Given the description of an element on the screen output the (x, y) to click on. 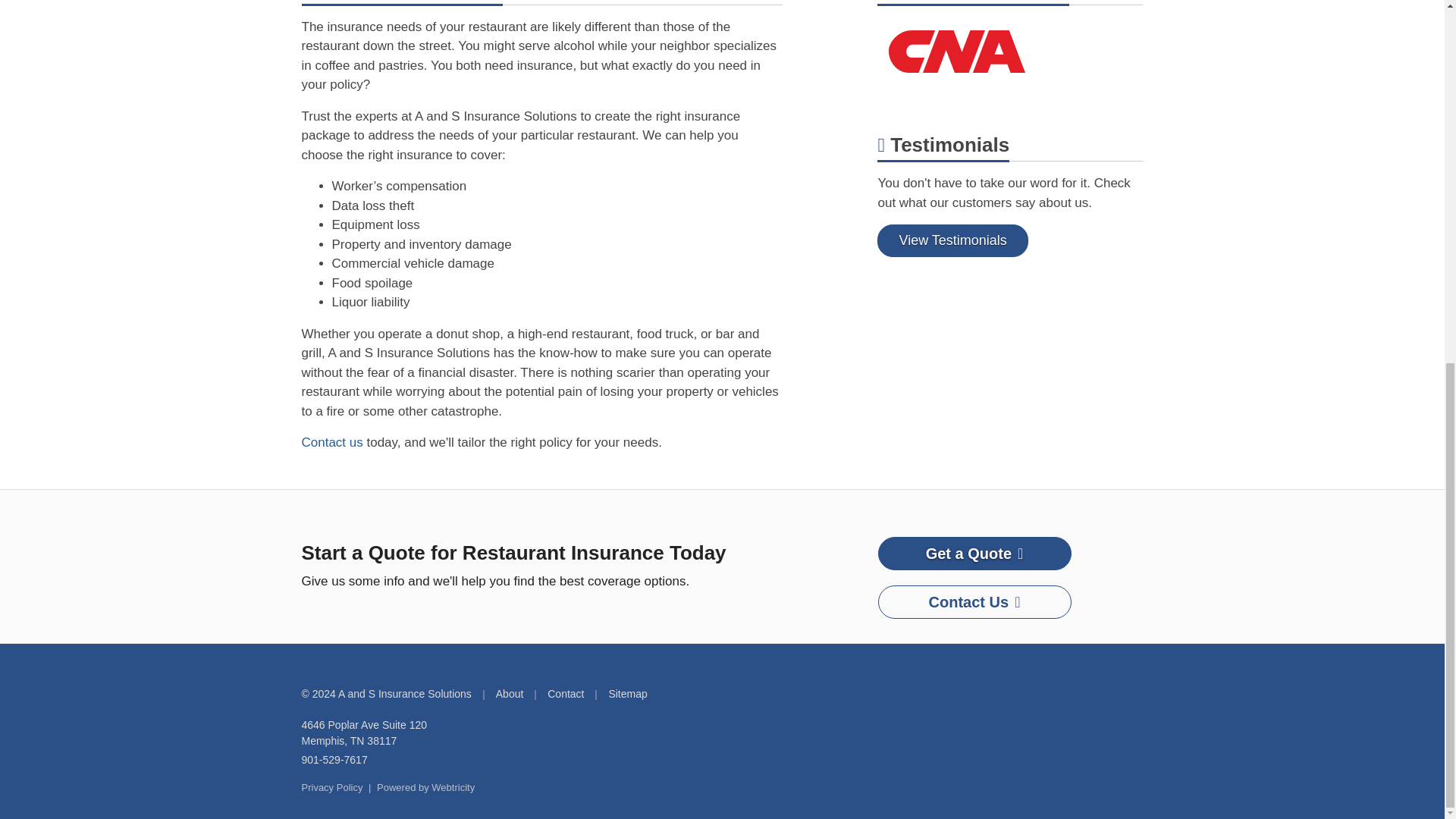
Powered by Webtricity (425, 787)
Contact us (331, 441)
Contact Us (974, 602)
About (510, 693)
Chubb (1009, 54)
Chubb (956, 51)
View Testimonials (364, 733)
Sitemap (952, 240)
Get a Quote (627, 693)
Privacy Policy (974, 553)
901-529-7617 (331, 787)
Chubb (334, 760)
Contact (956, 51)
